Given the description of an element on the screen output the (x, y) to click on. 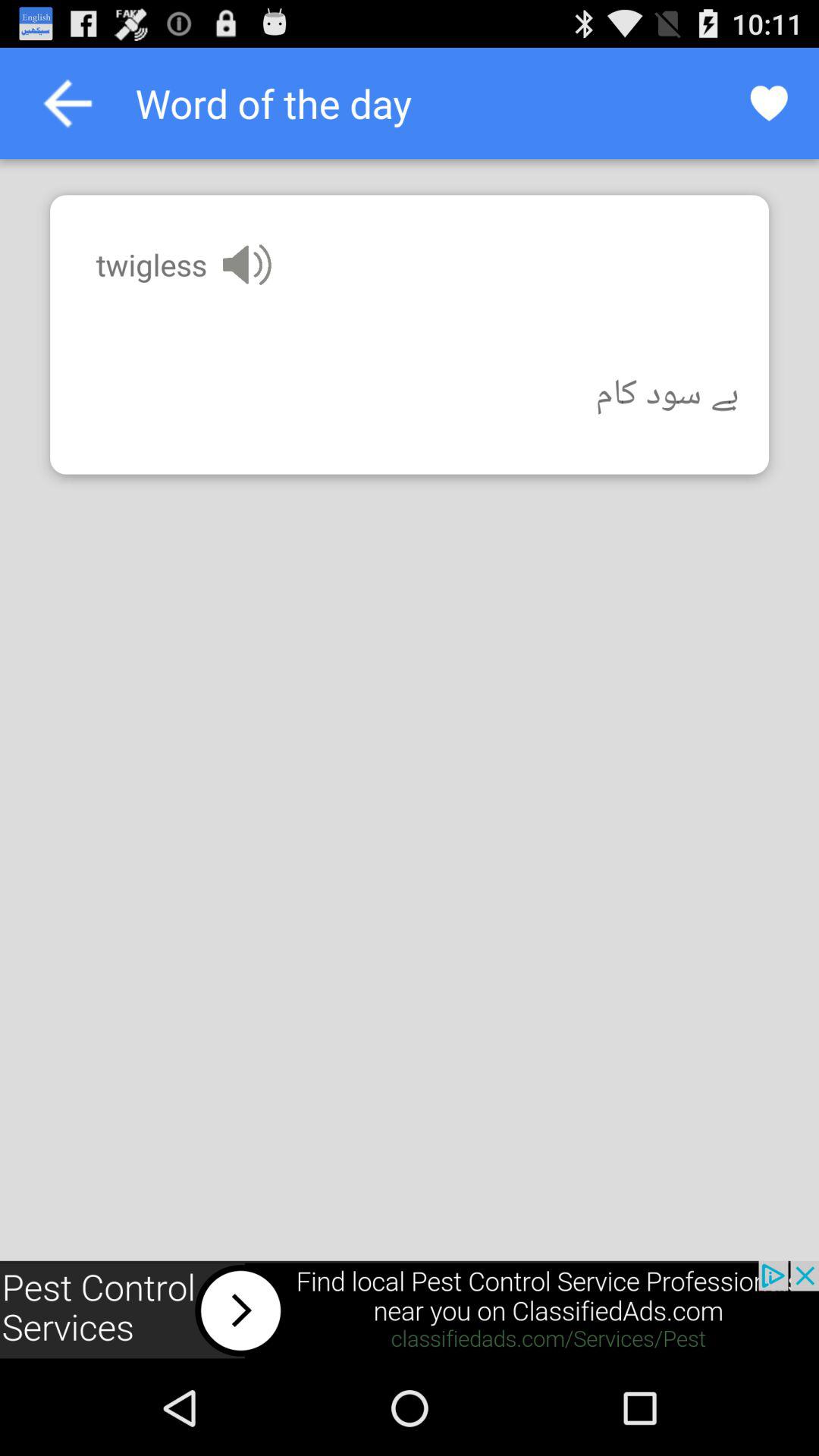
symbol of like (769, 103)
